Given the description of an element on the screen output the (x, y) to click on. 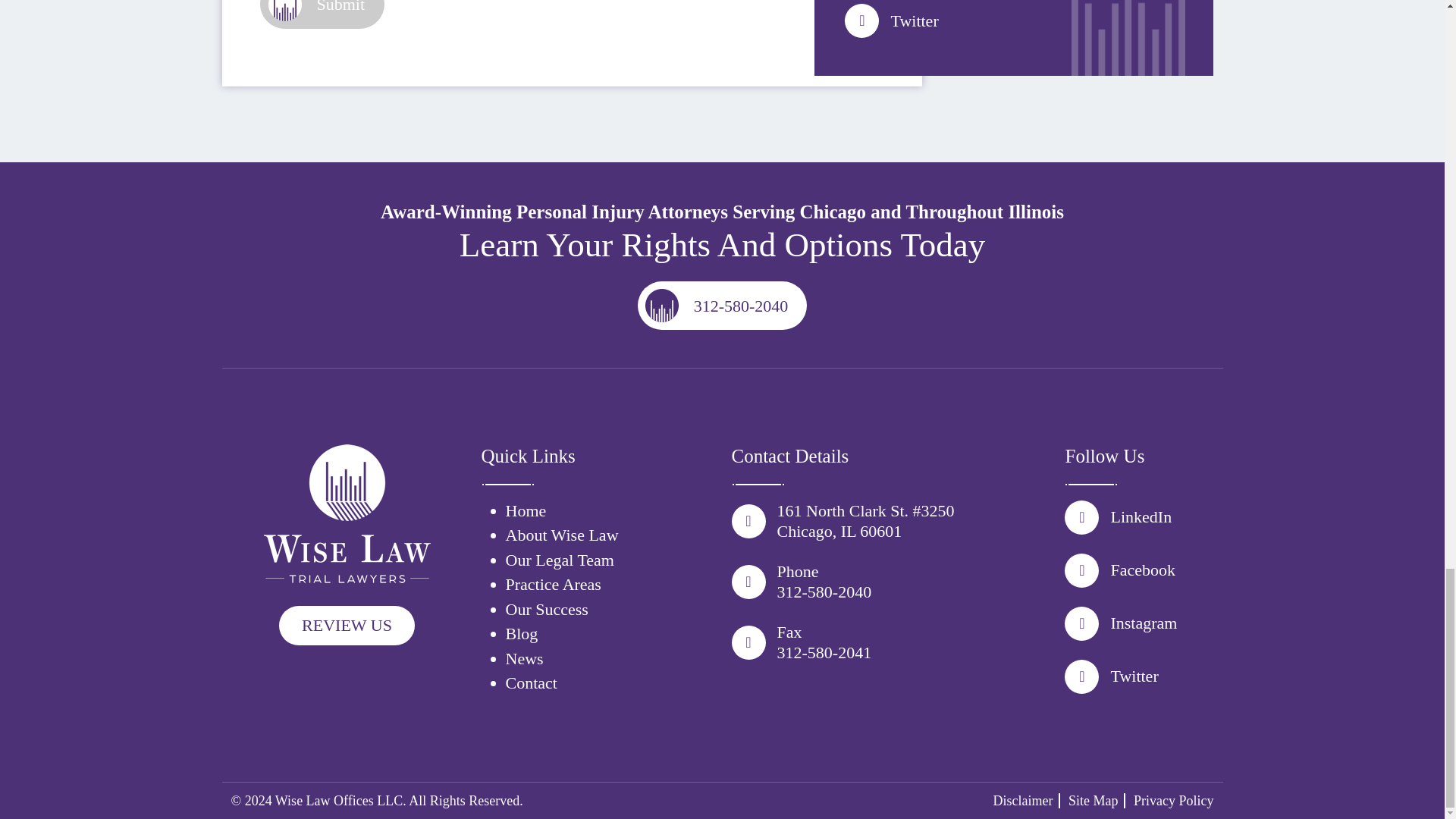
Submit (321, 14)
